Given the description of an element on the screen output the (x, y) to click on. 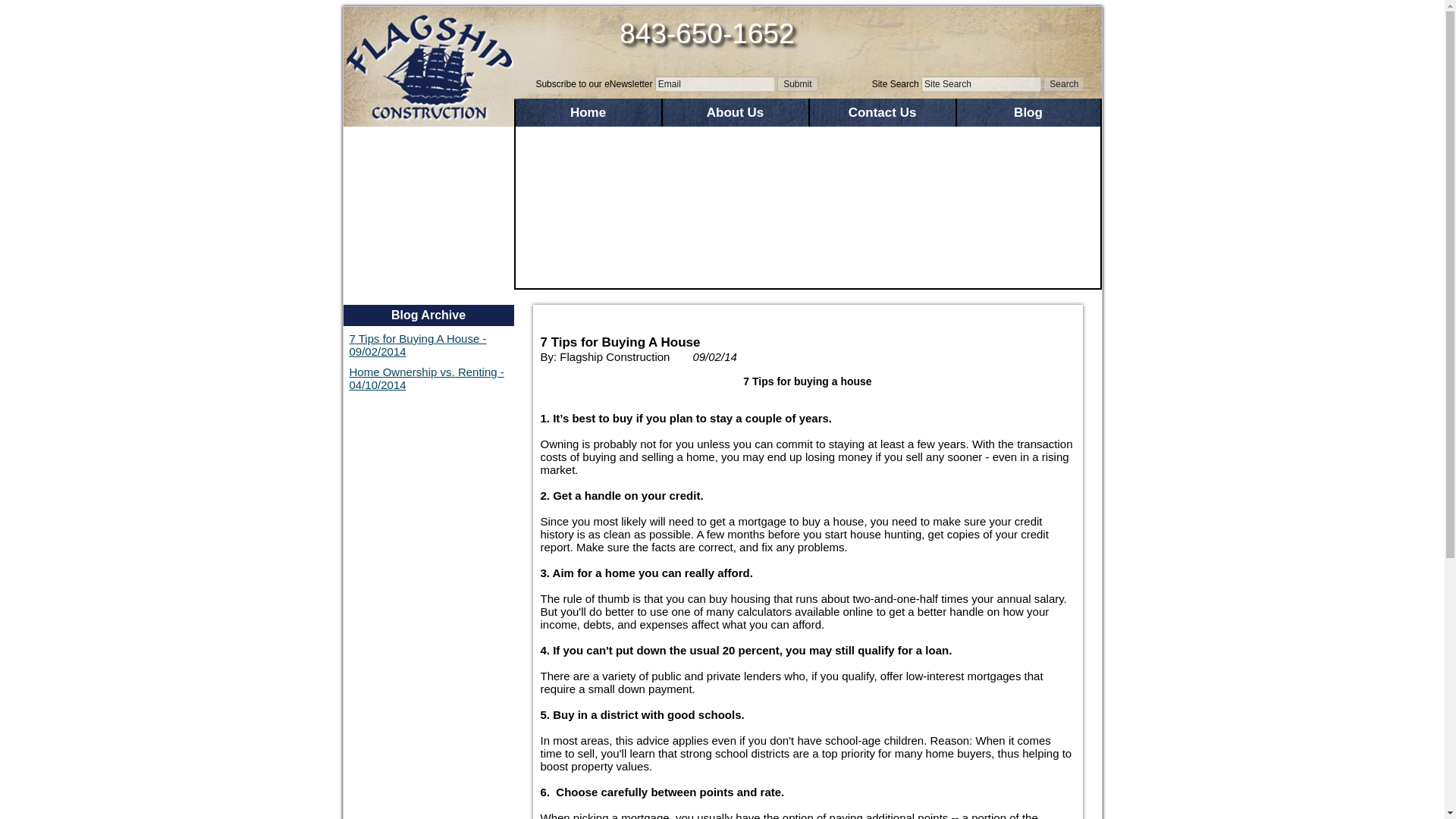
Communities (427, 137)
Site Search (981, 83)
Email (714, 83)
Testimonials (427, 246)
Flagship Construction (427, 66)
Floor Plans (427, 164)
Submit (796, 83)
Design Center (427, 219)
Search (1063, 83)
Custom Homes (427, 191)
